Given the description of an element on the screen output the (x, y) to click on. 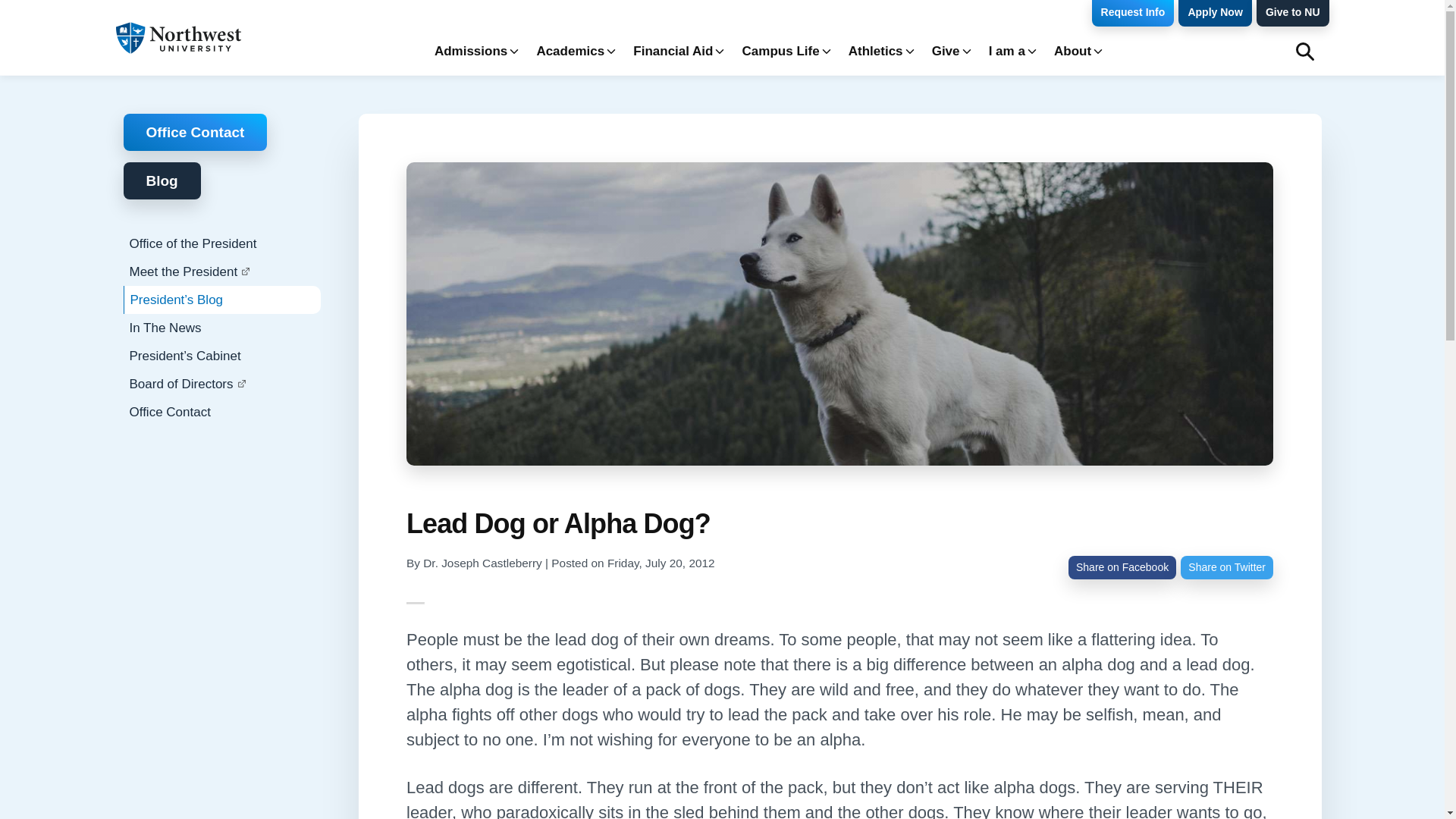
Apply Now (1213, 13)
Financial Aid (676, 51)
Request Info (1133, 13)
Admissions (473, 51)
Give to NU (1292, 13)
Academics (573, 51)
Search Our Website (1303, 51)
